Given the description of an element on the screen output the (x, y) to click on. 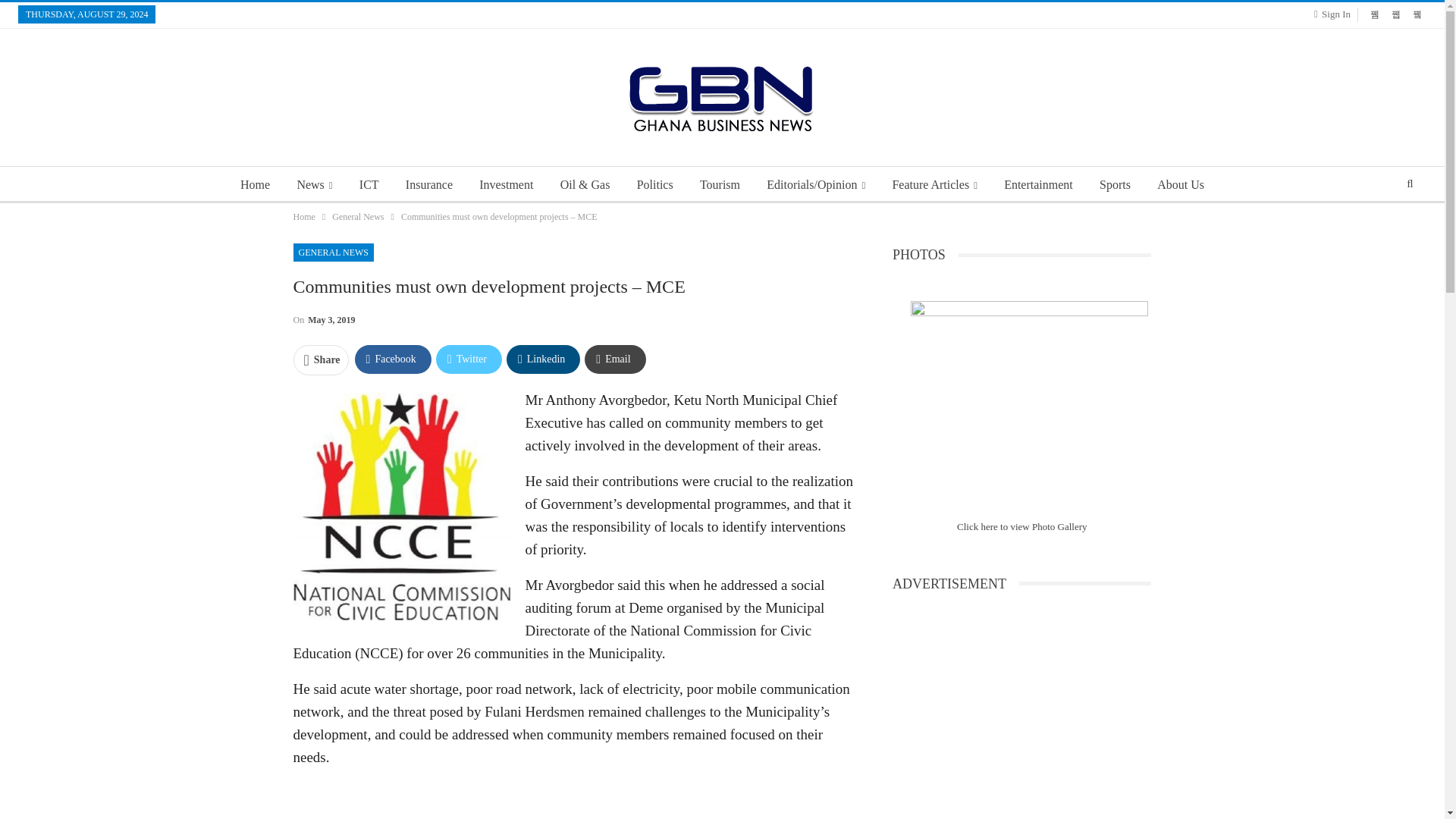
Twitter (468, 358)
ICT (369, 185)
News (313, 185)
About Us (1180, 185)
Linkedin (542, 358)
GENERAL NEWS (333, 252)
Sign In (1335, 13)
Home (255, 185)
Tourism (719, 185)
Sports (1115, 185)
